Given the description of an element on the screen output the (x, y) to click on. 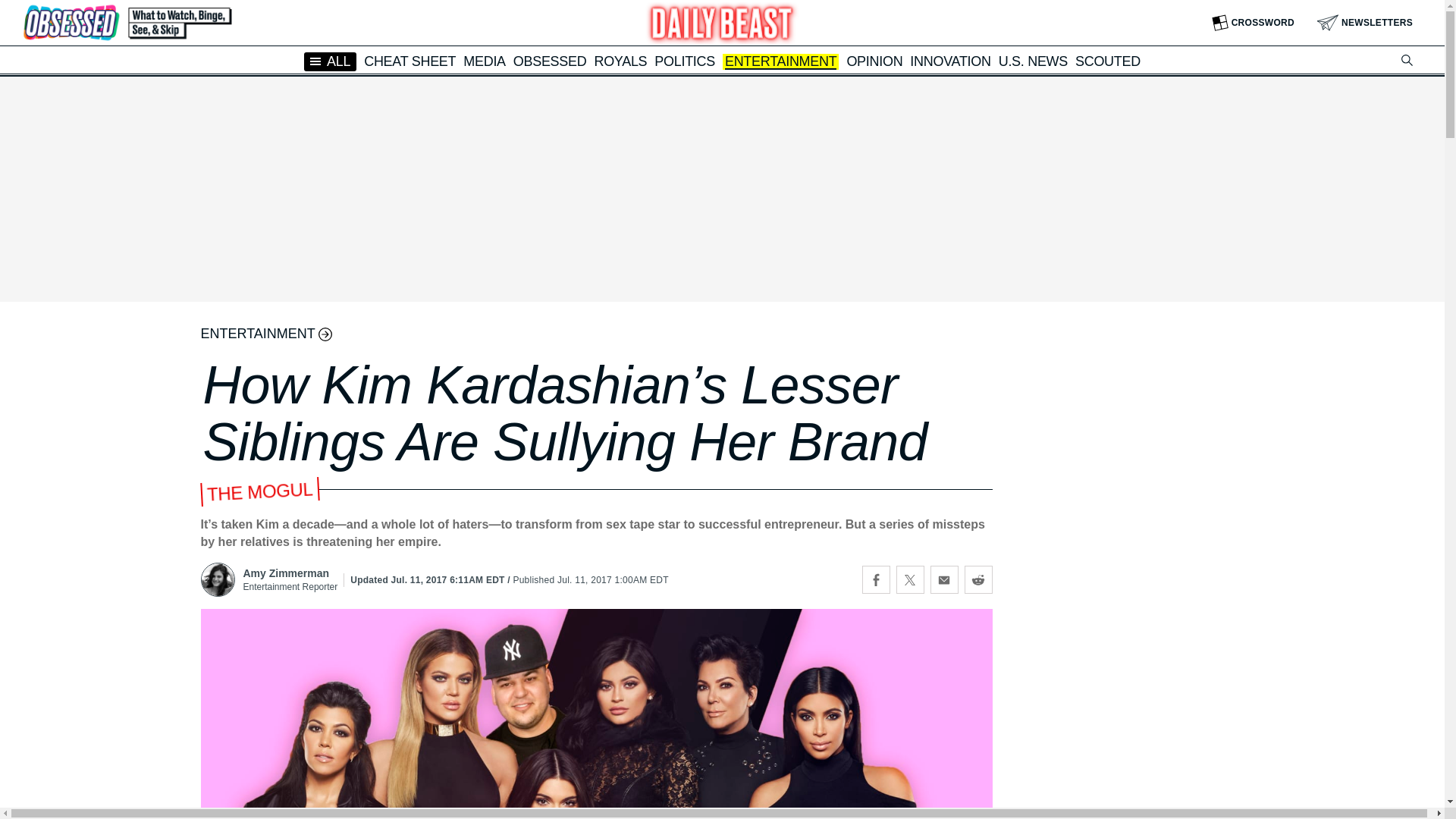
U.S. NEWS (1032, 60)
SCOUTED (1107, 60)
ROYALS (620, 60)
OPINION (873, 60)
ENTERTAINMENT (780, 61)
MEDIA (484, 60)
POLITICS (683, 60)
INNOVATION (950, 60)
CROSSWORD (1252, 22)
OBSESSED (549, 60)
